Given the description of an element on the screen output the (x, y) to click on. 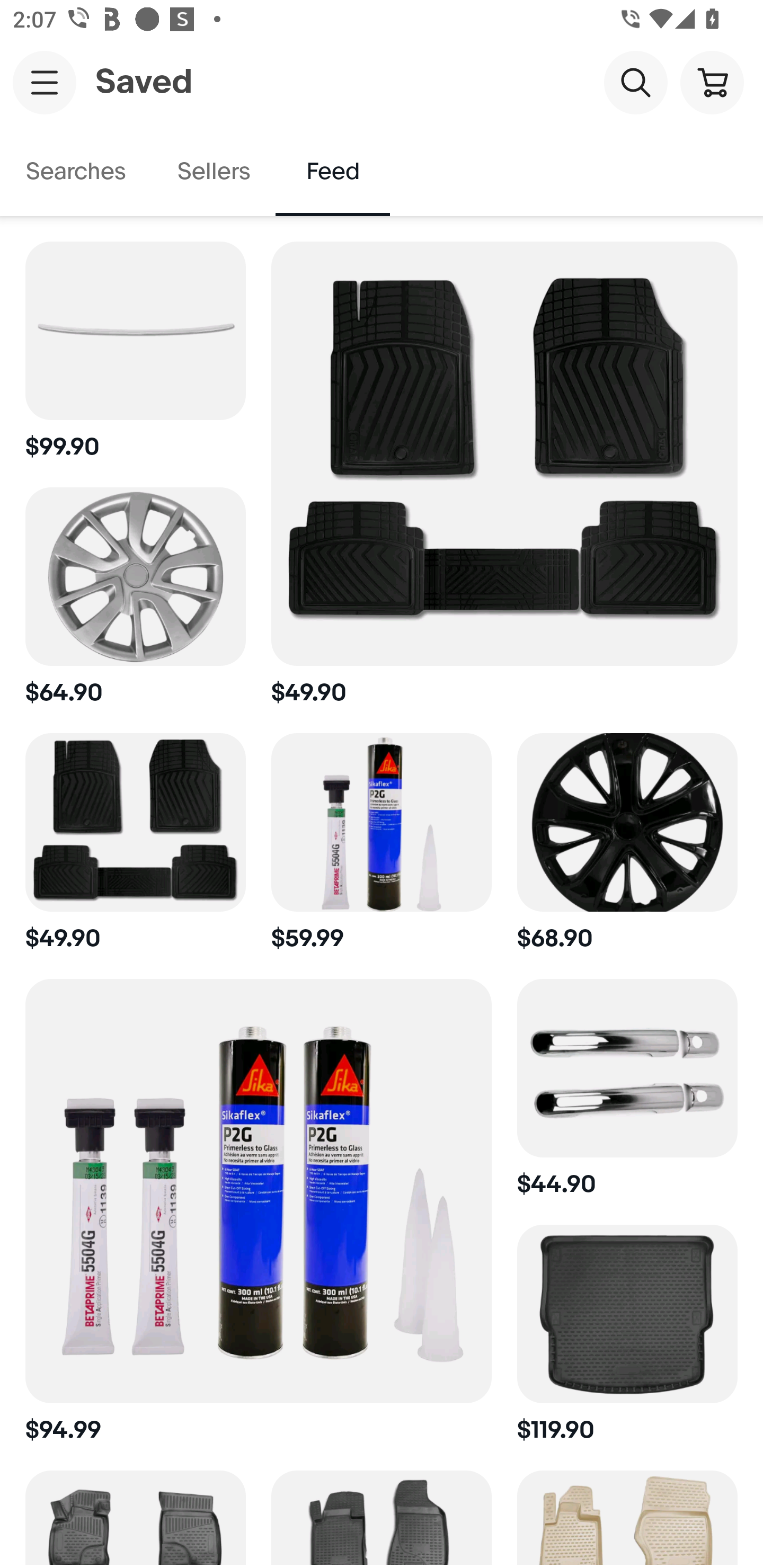
Main navigation, open (44, 82)
Search (635, 81)
Cart button shopping cart (711, 81)
Searches (75, 171)
Sellers (213, 171)
